Given the description of an element on the screen output the (x, y) to click on. 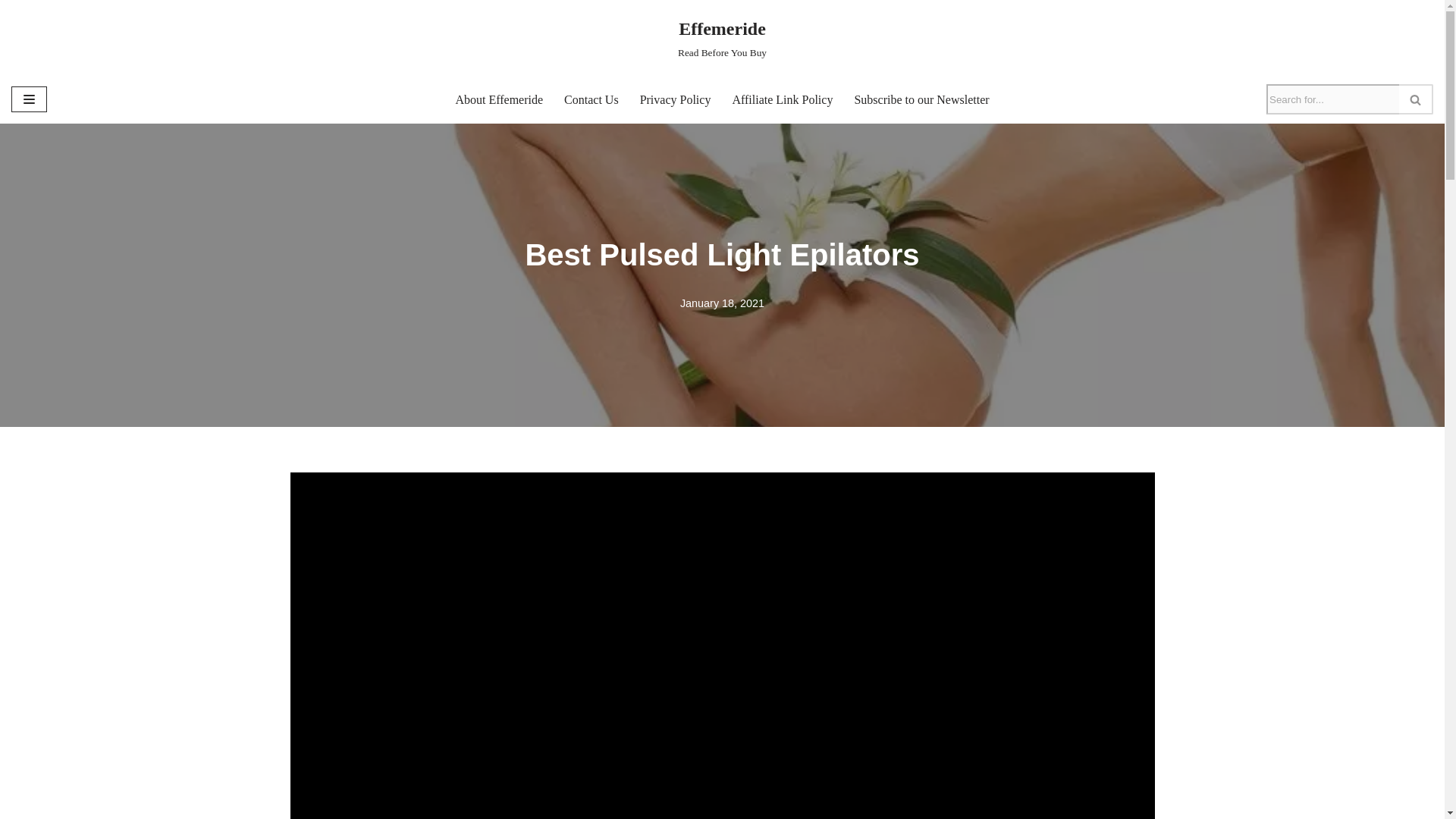
Affiliate Link Policy (782, 99)
Subscribe to our Newsletter (722, 37)
About Effemeride (920, 99)
Skip to content (498, 99)
Contact Us (11, 31)
Privacy Policy (591, 99)
Navigation Menu (675, 99)
